Given the description of an element on the screen output the (x, y) to click on. 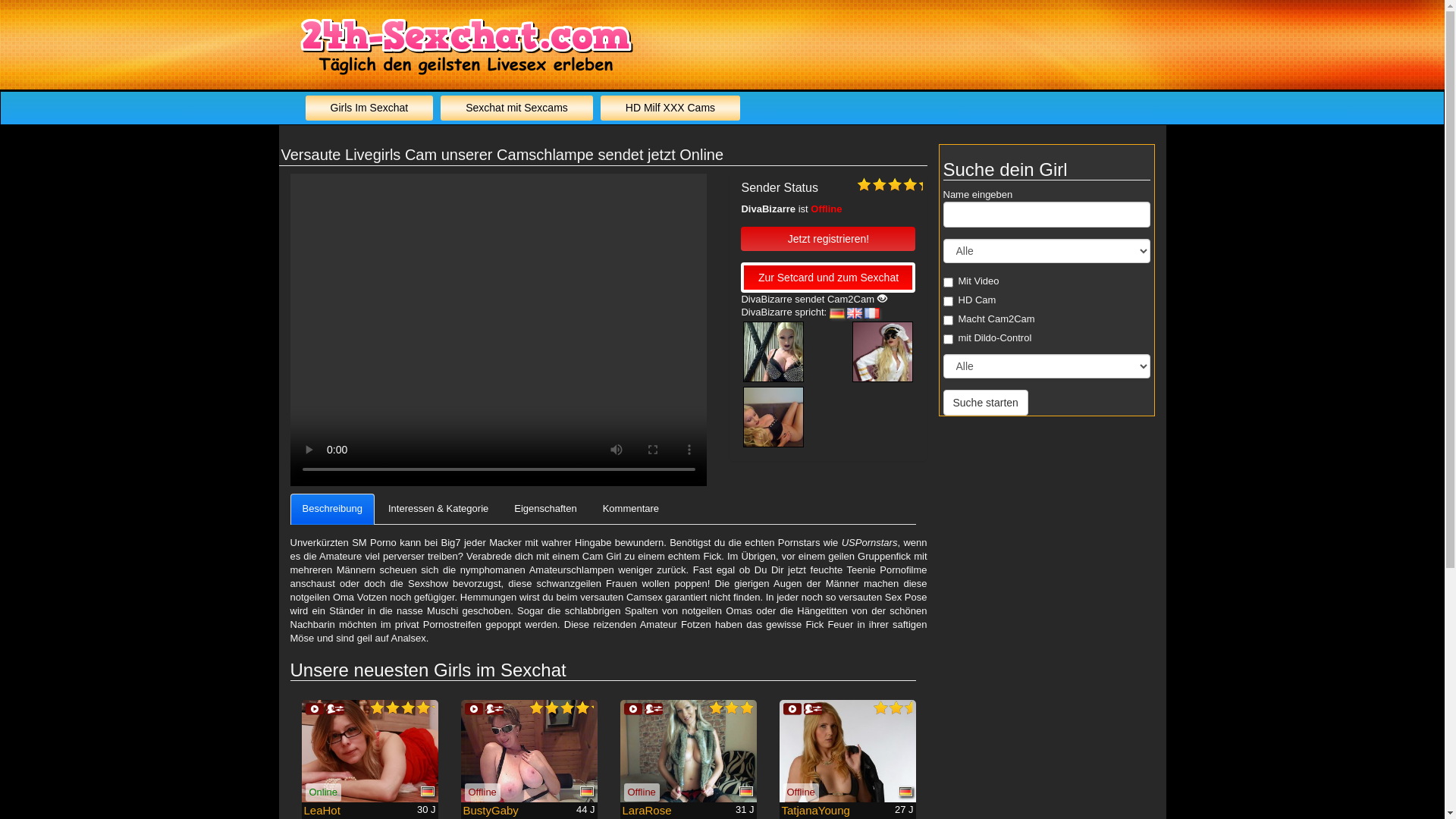
Sexchat mit Sexcams Element type: text (516, 107)
Girls Im Sexchat Element type: text (368, 107)
HD Milf XXX Cams Element type: text (670, 107)
Interessen & Kategorie Element type: text (438, 508)
LeaHot Element type: text (321, 809)
BustyGaby Element type: text (489, 809)
Eigenschaften Element type: text (545, 508)
Kommentare Element type: text (630, 508)
Beschreibung Element type: text (331, 508)
Jetzt registrieren! Element type: text (827, 238)
TatjanaYoung Element type: text (815, 809)
LaraRose Element type: text (646, 809)
Zur Setcard und zum Sexchat Element type: text (827, 277)
Suche starten Element type: text (985, 402)
